Given the description of an element on the screen output the (x, y) to click on. 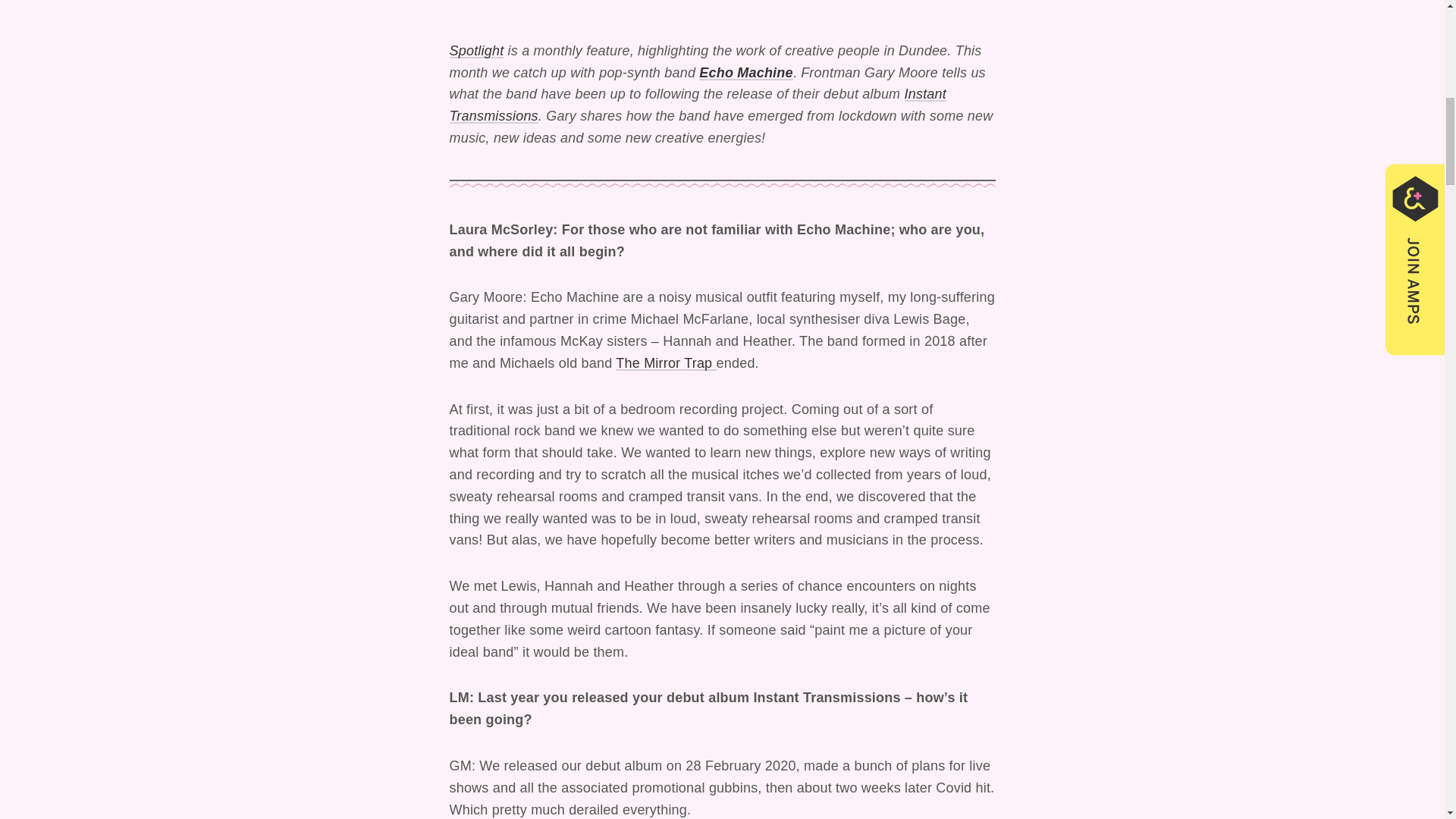
Spotlight (475, 50)
Instant Transmissions (696, 104)
The Mirror Trap (665, 363)
Echo Machine (745, 72)
